Given the description of an element on the screen output the (x, y) to click on. 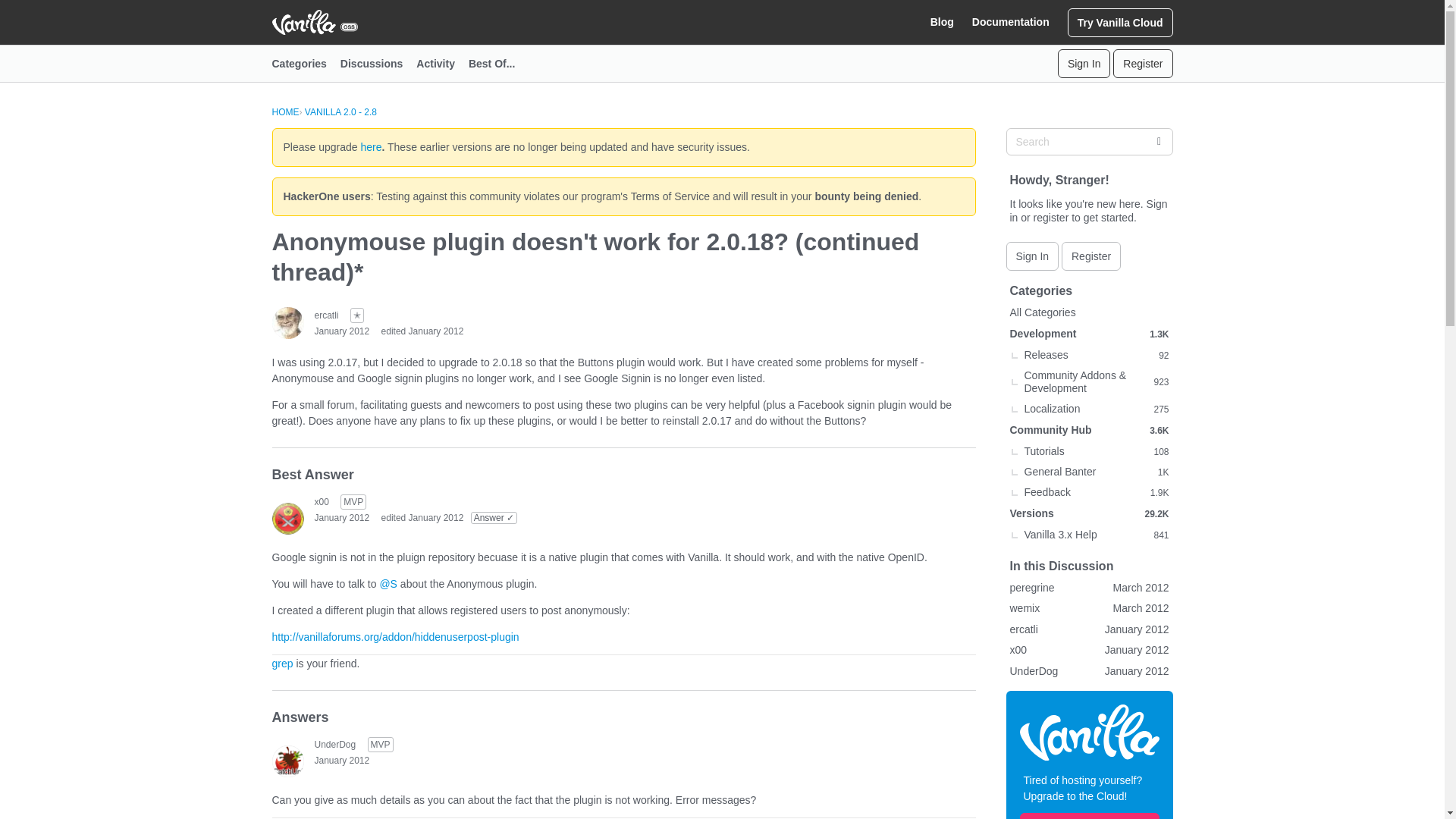
ercatli (286, 323)
ercatli (325, 315)
UnderDog (334, 744)
January 25, 2012 9:58AM (341, 517)
Most Valuable Poster (353, 501)
x00 (321, 500)
HOME (284, 112)
Documentation (1011, 22)
Go (1158, 141)
x00 (286, 517)
